Given the description of an element on the screen output the (x, y) to click on. 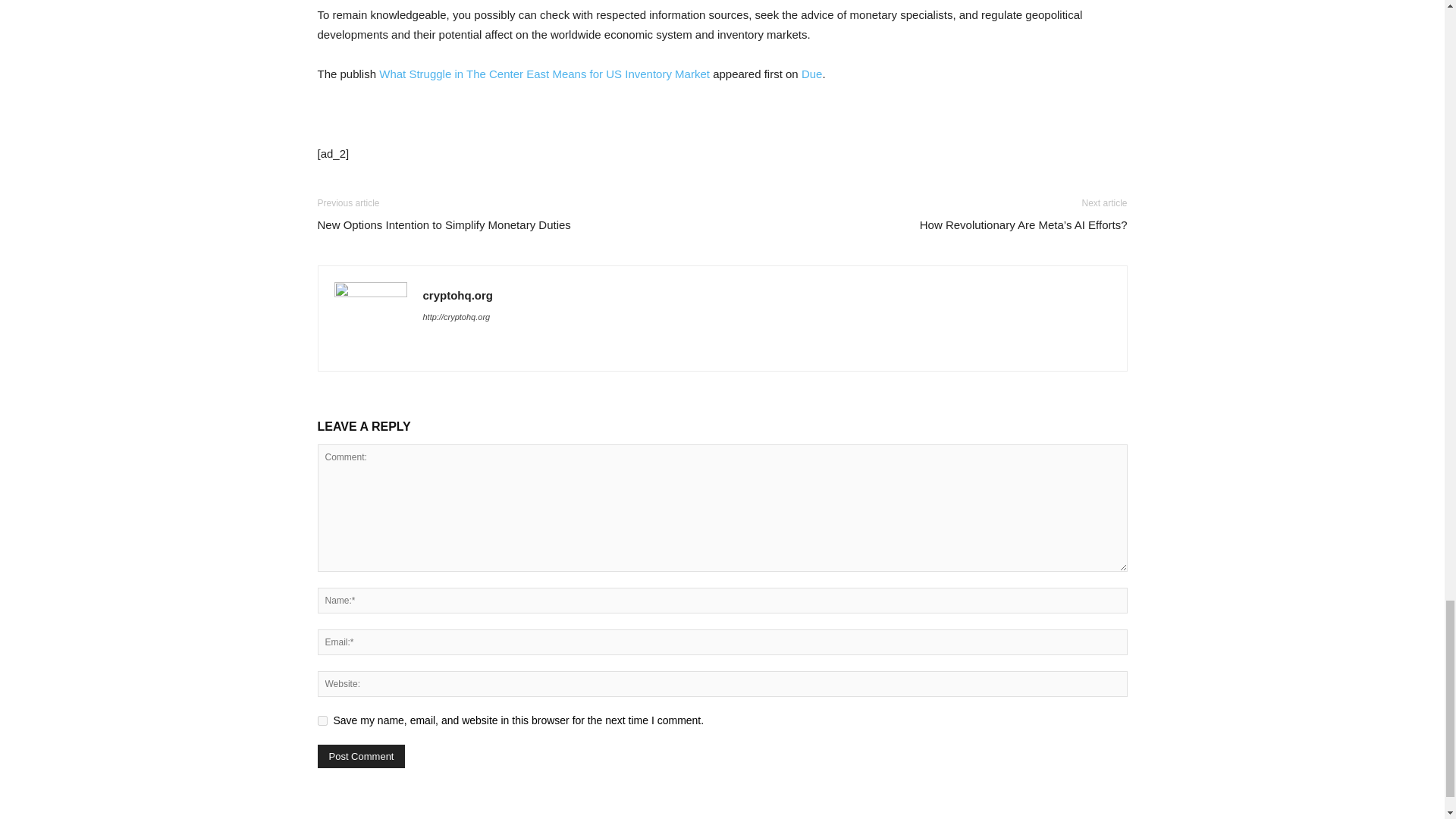
Post Comment (360, 756)
New Options Intention to Simplify Monetary Duties (443, 224)
Due (812, 73)
yes (321, 720)
cryptohq.org (458, 295)
